Given the description of an element on the screen output the (x, y) to click on. 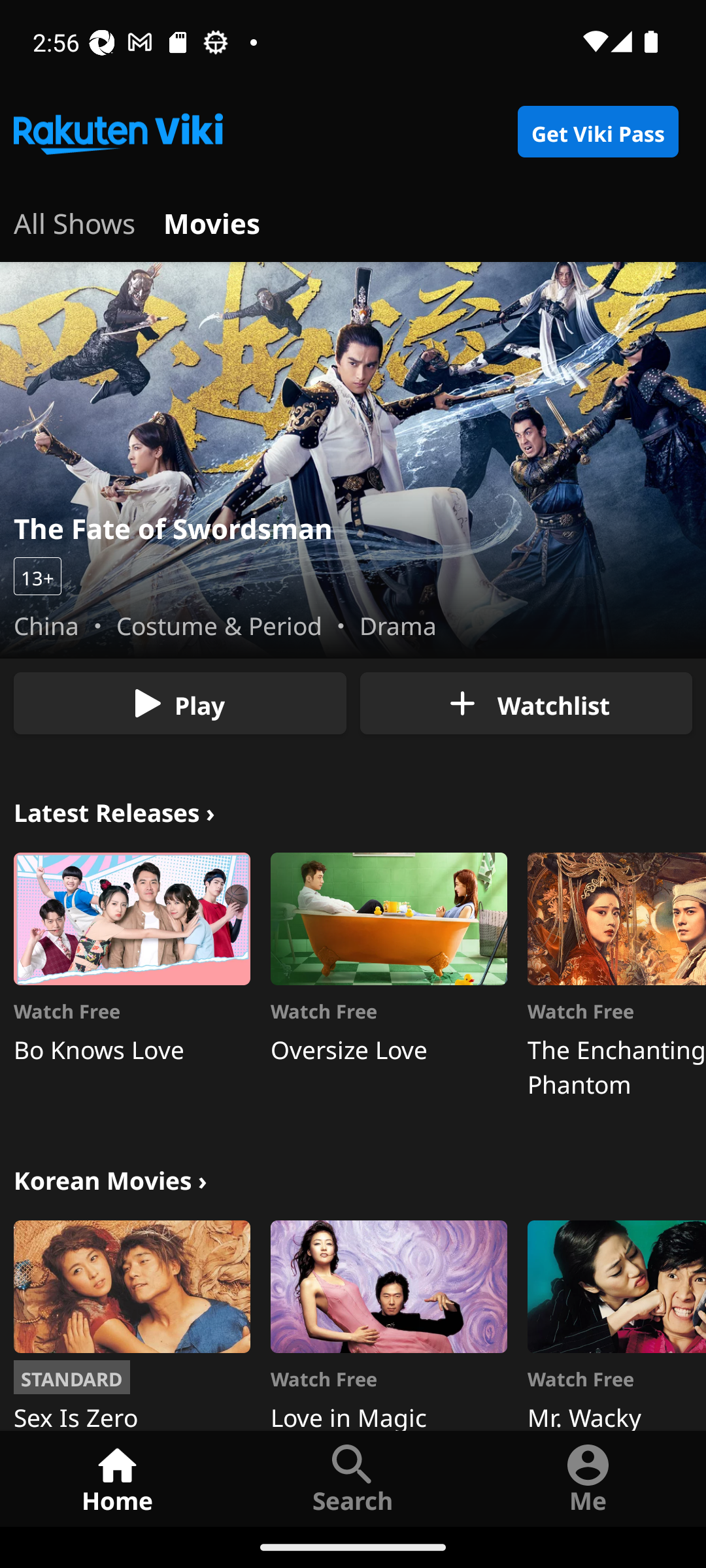
Get Viki Pass (597, 131)
home_tab_all_shows All Shows (74, 220)
Play home_billboard_play_button (179, 702)
Watchlist home_billboard_add_to_watchlist_button (526, 702)
Latest Releases › latest_releases_movies (114, 809)
Korean Movies › korean_movies_trending (110, 1178)
Search (352, 1478)
Me (588, 1478)
